Given the description of an element on the screen output the (x, y) to click on. 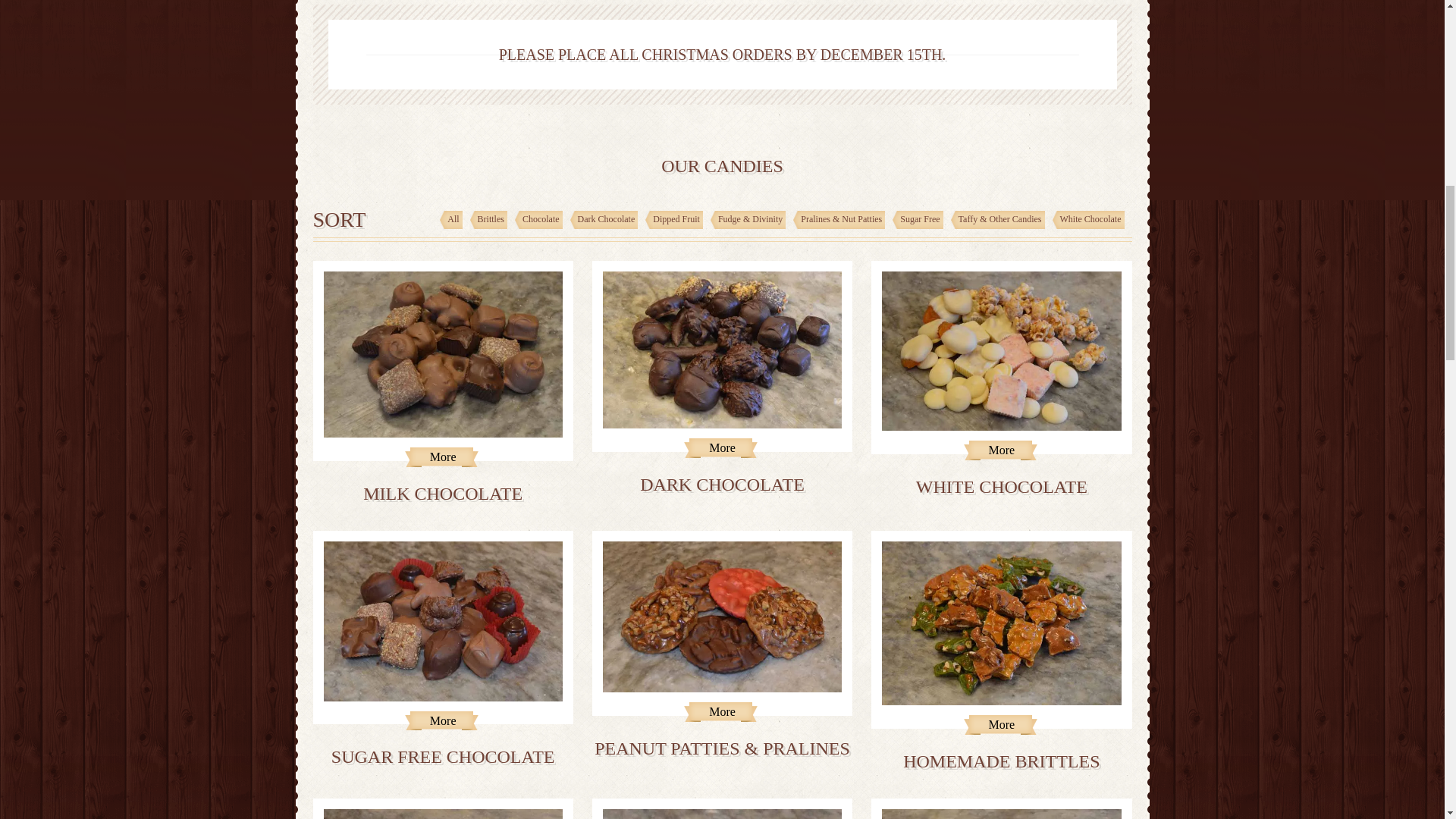
All (450, 219)
More (442, 721)
White Chocolate (1088, 219)
More (722, 711)
Filter By White Chocolate (1088, 219)
More (442, 456)
Filter By Brittles (488, 219)
More (1001, 450)
Dark Chocolate (604, 219)
Filter By Dark Chocolate (604, 219)
Chocolate (538, 219)
Filter By Sugar Free (917, 219)
Sugar Free (917, 219)
Brittles (488, 219)
Filter By All (450, 219)
